Given the description of an element on the screen output the (x, y) to click on. 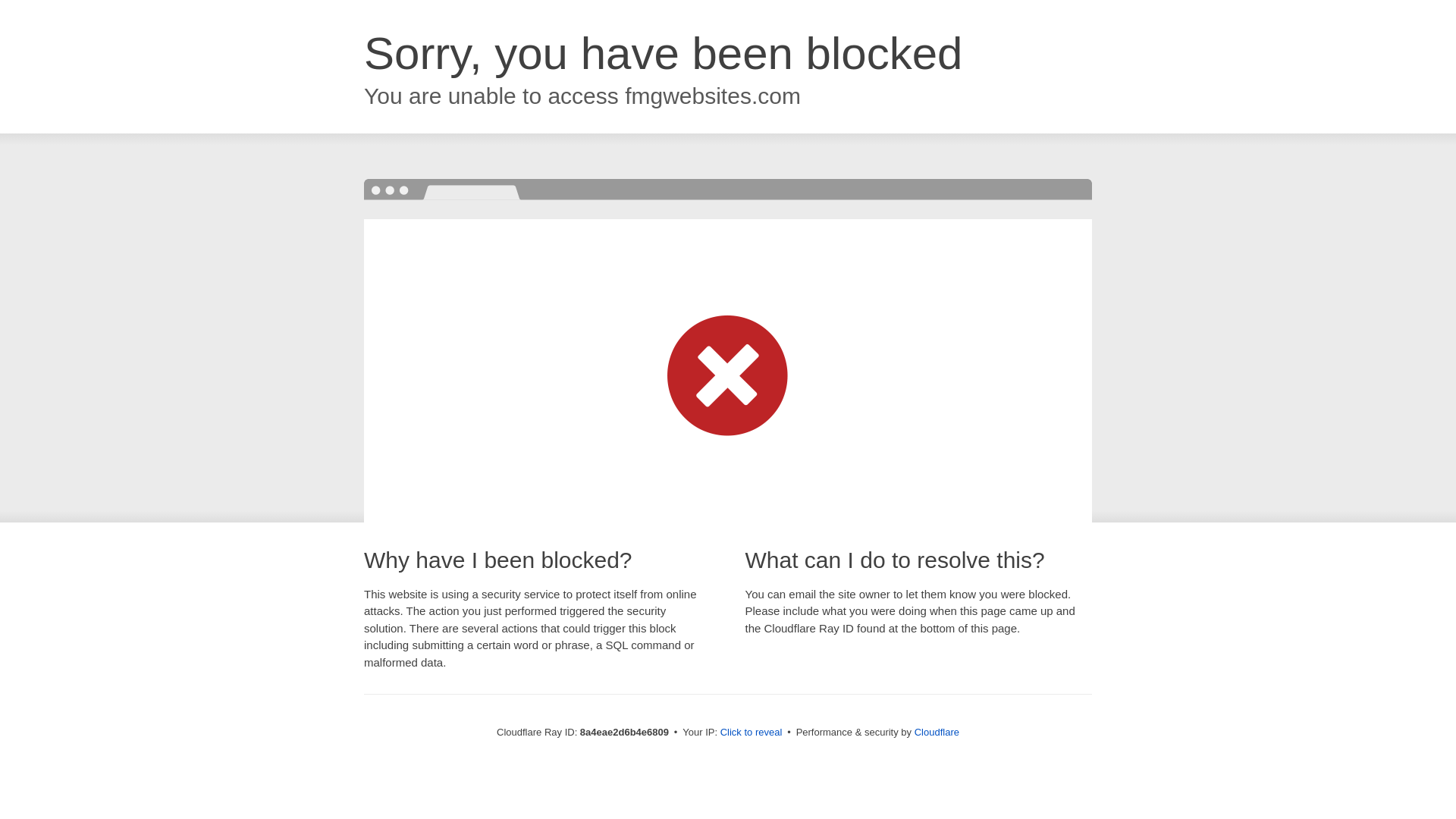
Click to reveal (751, 732)
Cloudflare (936, 731)
